Given the description of an element on the screen output the (x, y) to click on. 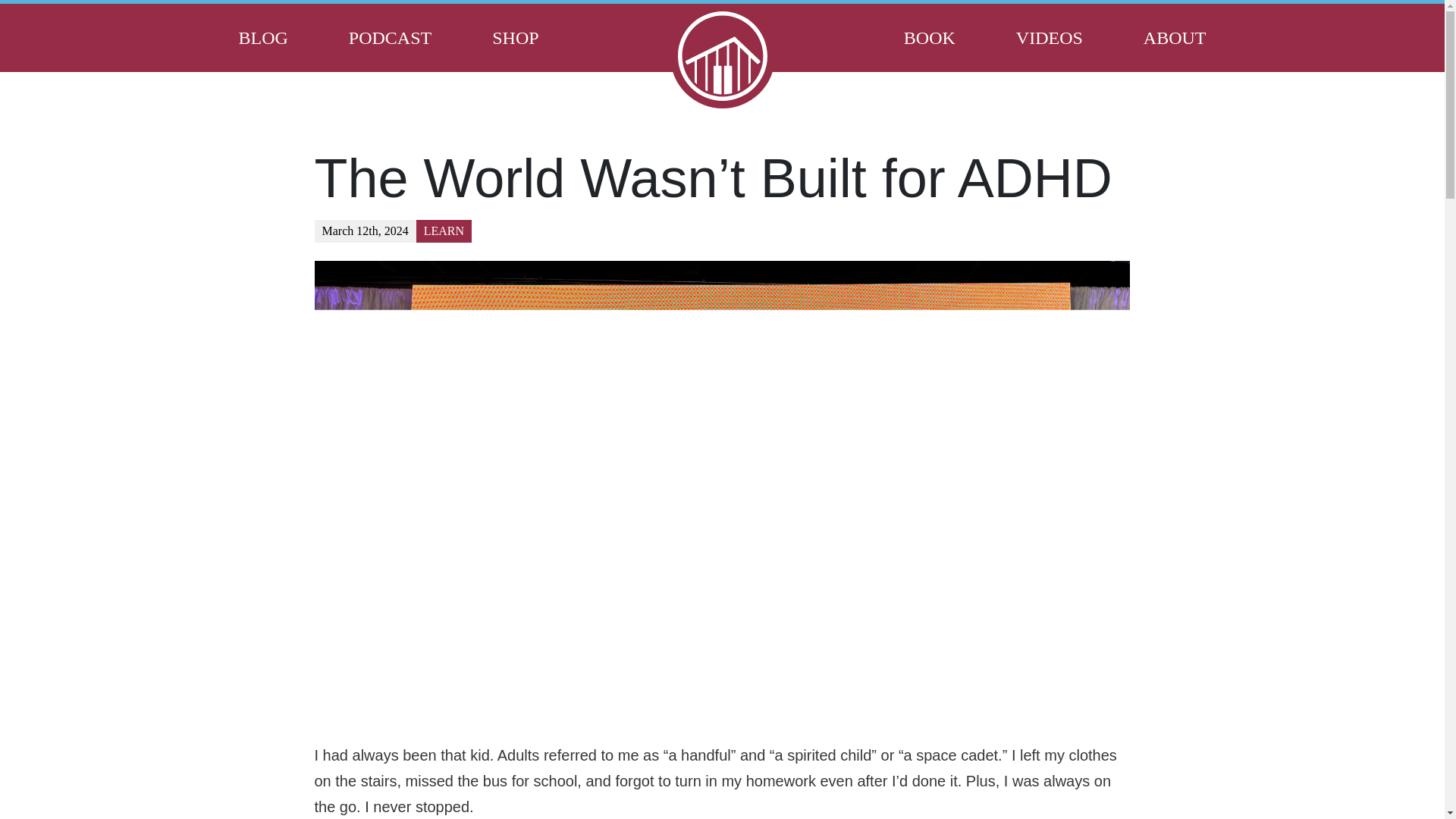
VIDEOS (1049, 37)
HOME (721, 56)
LEARN (443, 231)
BOOK (929, 37)
PODCAST (389, 37)
BLOG (262, 37)
SHOP (515, 37)
ABOUT (1174, 37)
